Given the description of an element on the screen output the (x, y) to click on. 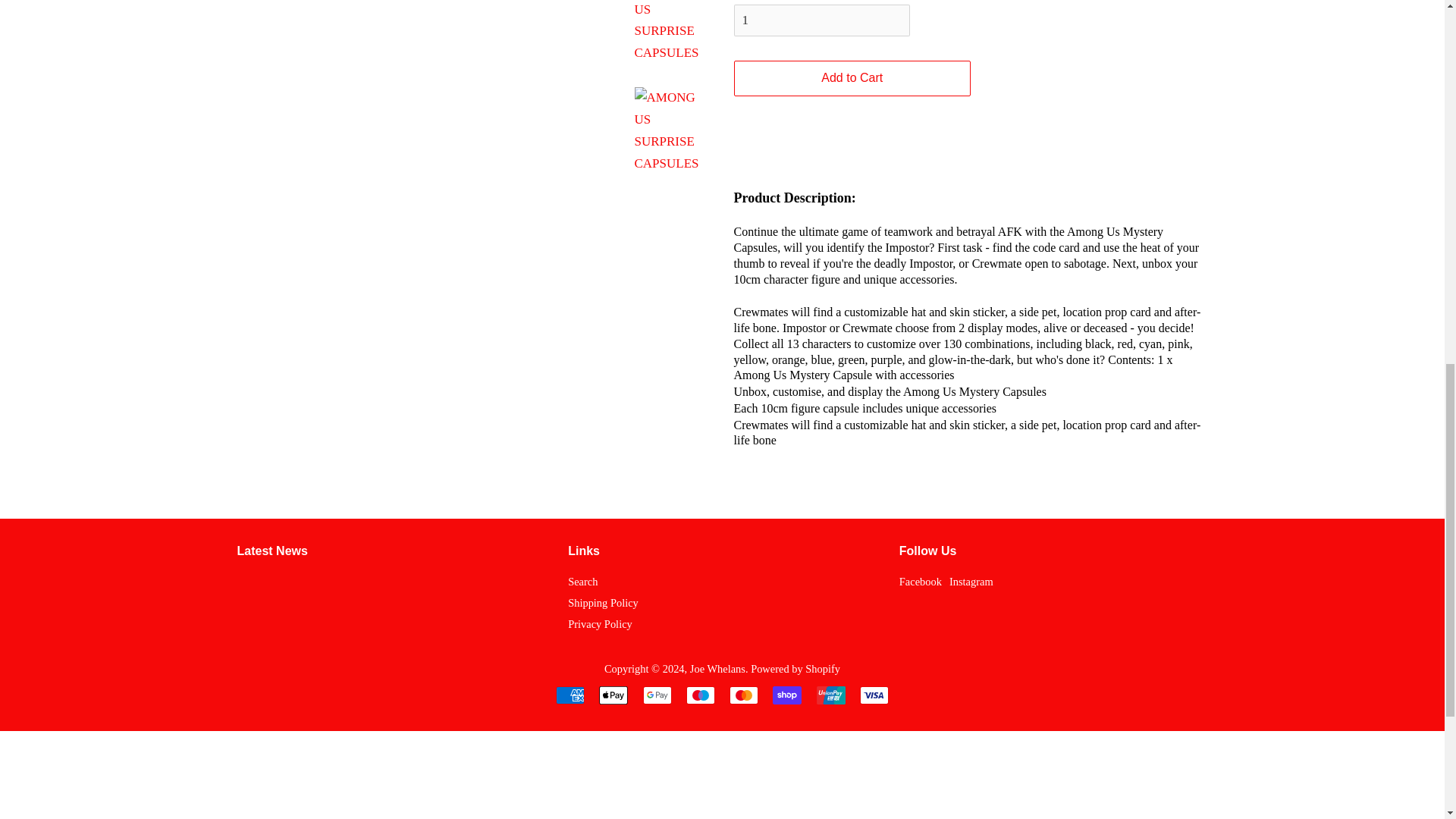
Shop Pay (787, 695)
American Express (570, 695)
Visa (874, 695)
1 (821, 20)
Mastercard (743, 695)
Google Pay (657, 695)
Union Pay (830, 695)
Joe Whelans on Facebook (920, 581)
Joe Whelans on Instagram (970, 581)
Apple Pay (612, 695)
